Given the description of an element on the screen output the (x, y) to click on. 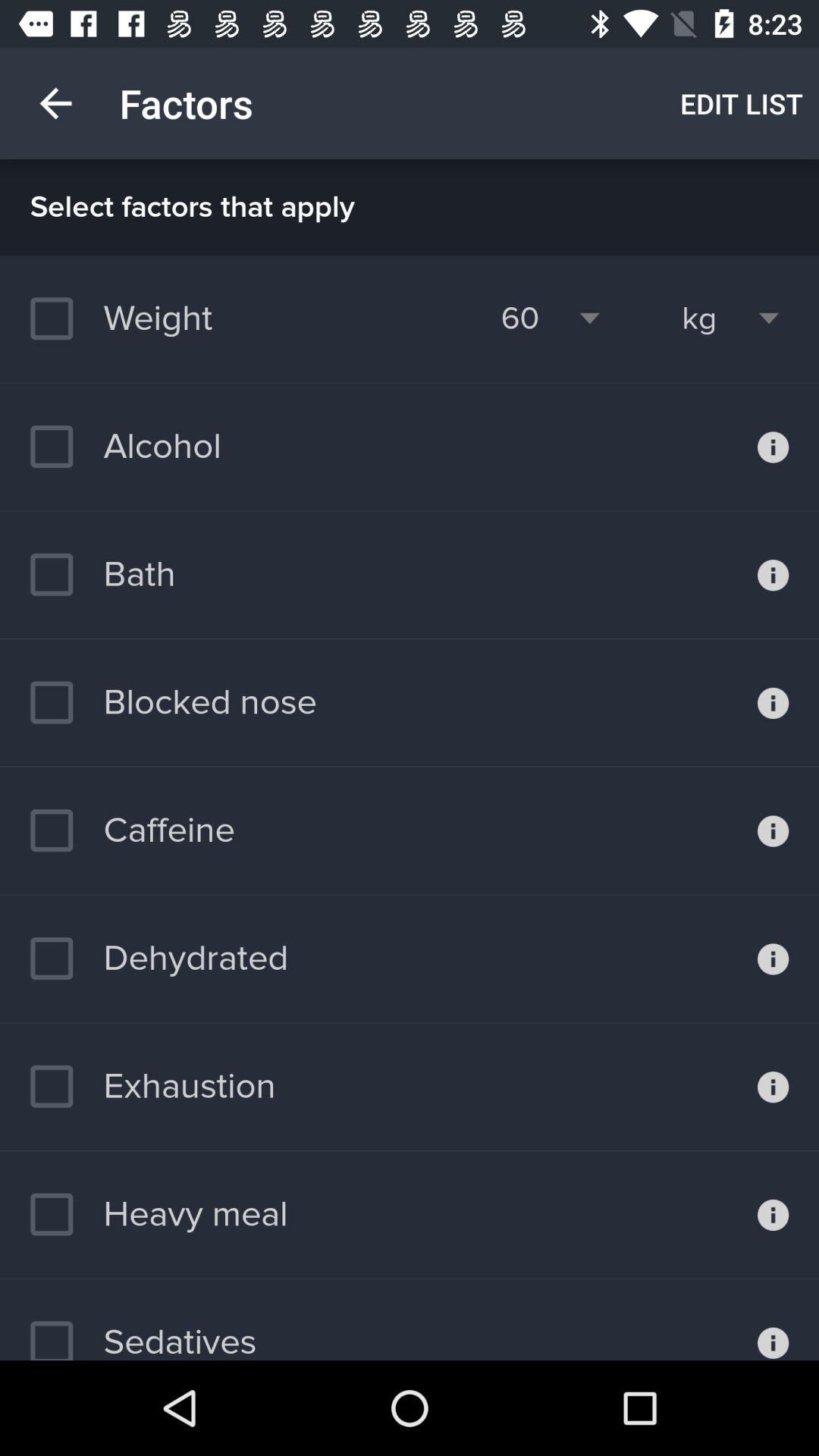
information button (773, 830)
